Given the description of an element on the screen output the (x, y) to click on. 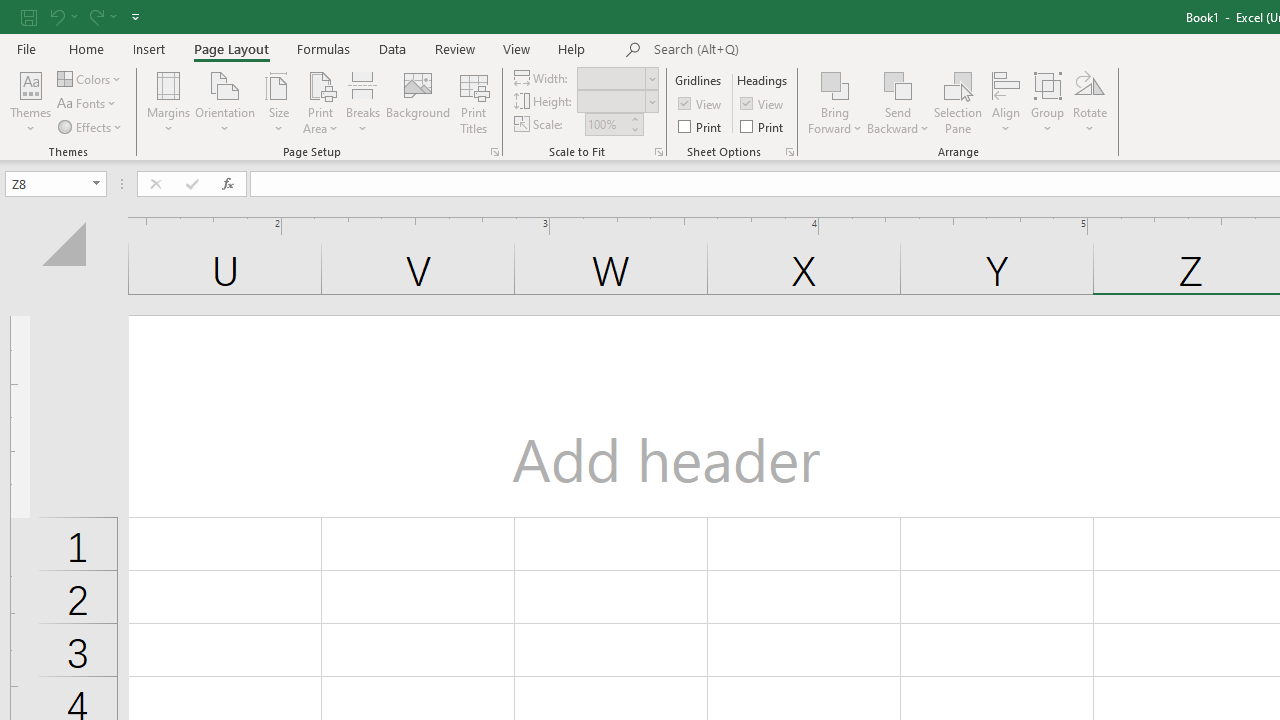
Margins (168, 102)
Group (1047, 102)
Send Backward (898, 84)
Scale (605, 124)
More (633, 118)
Width (618, 78)
